Given the description of an element on the screen output the (x, y) to click on. 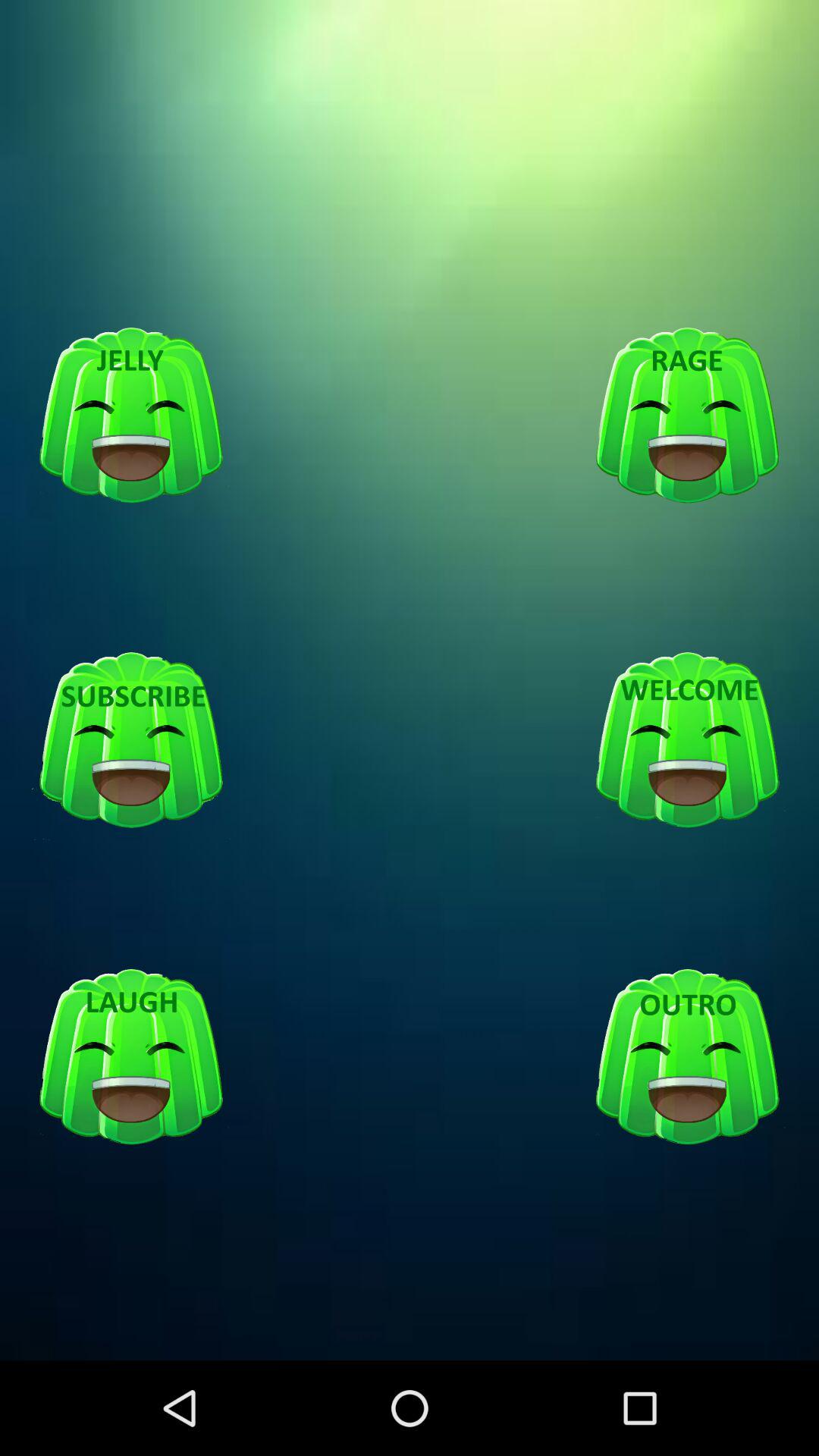
turn on icon at the top right corner (687, 415)
